Given the description of an element on the screen output the (x, y) to click on. 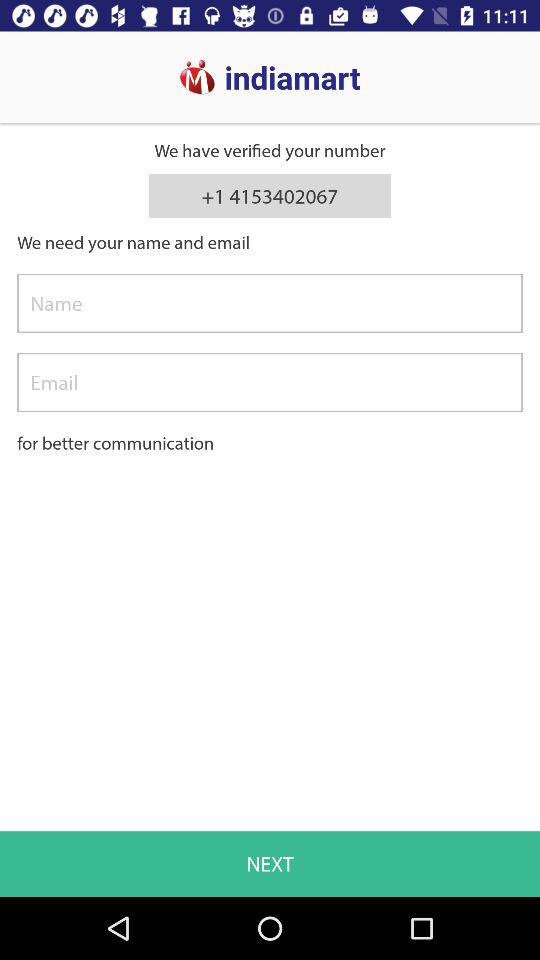
insert name (269, 303)
